Given the description of an element on the screen output the (x, y) to click on. 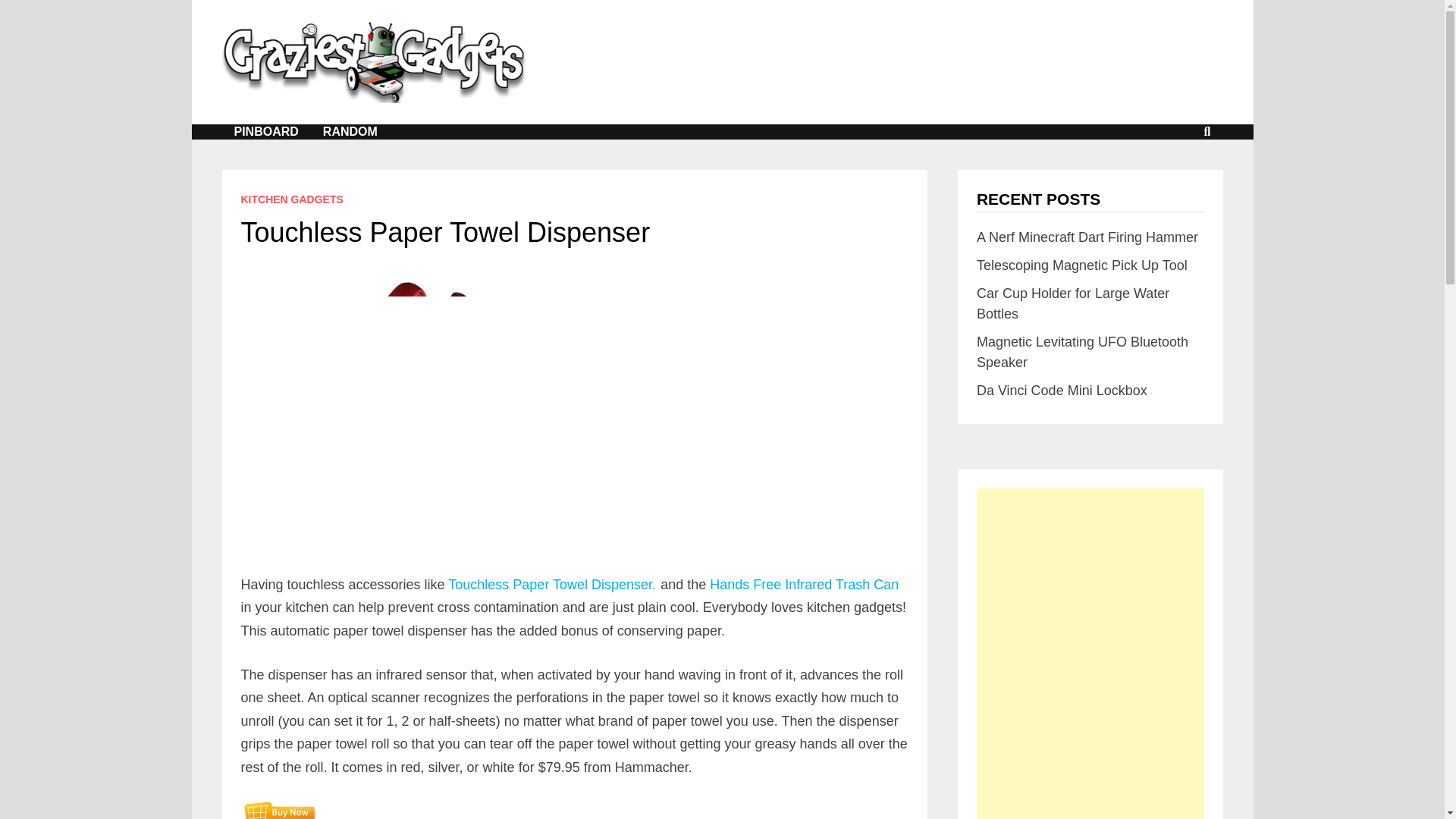
Hands Free Infrared Trash Can (804, 584)
RANDOM (350, 131)
Touchless Paper Towel Dispenser. (552, 584)
touchless paper towel (384, 425)
PINBOARD (265, 131)
KITCHEN GADGETS (292, 199)
buy now (279, 809)
